Given the description of an element on the screen output the (x, y) to click on. 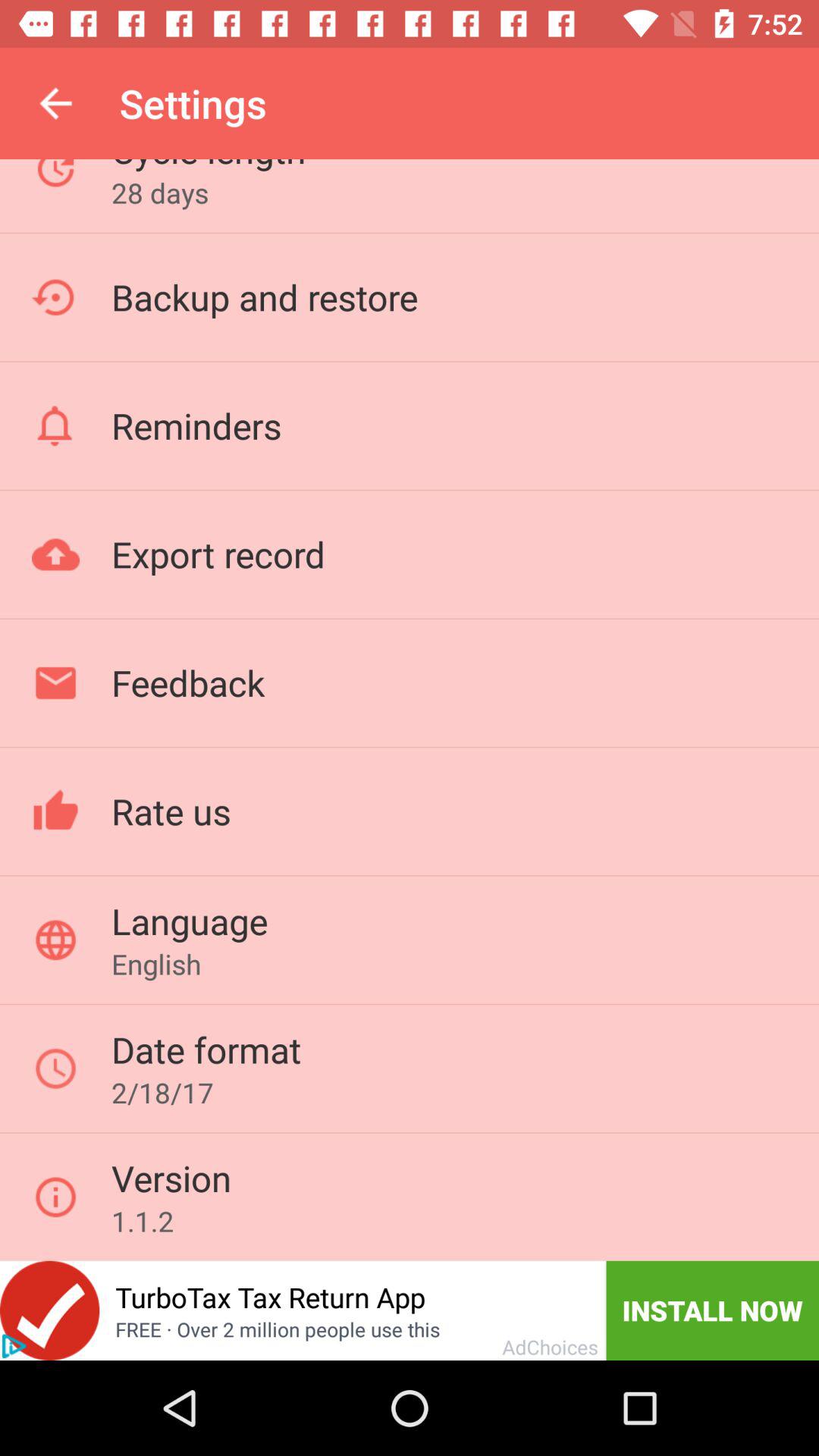
play the add (14, 1346)
